Given the description of an element on the screen output the (x, y) to click on. 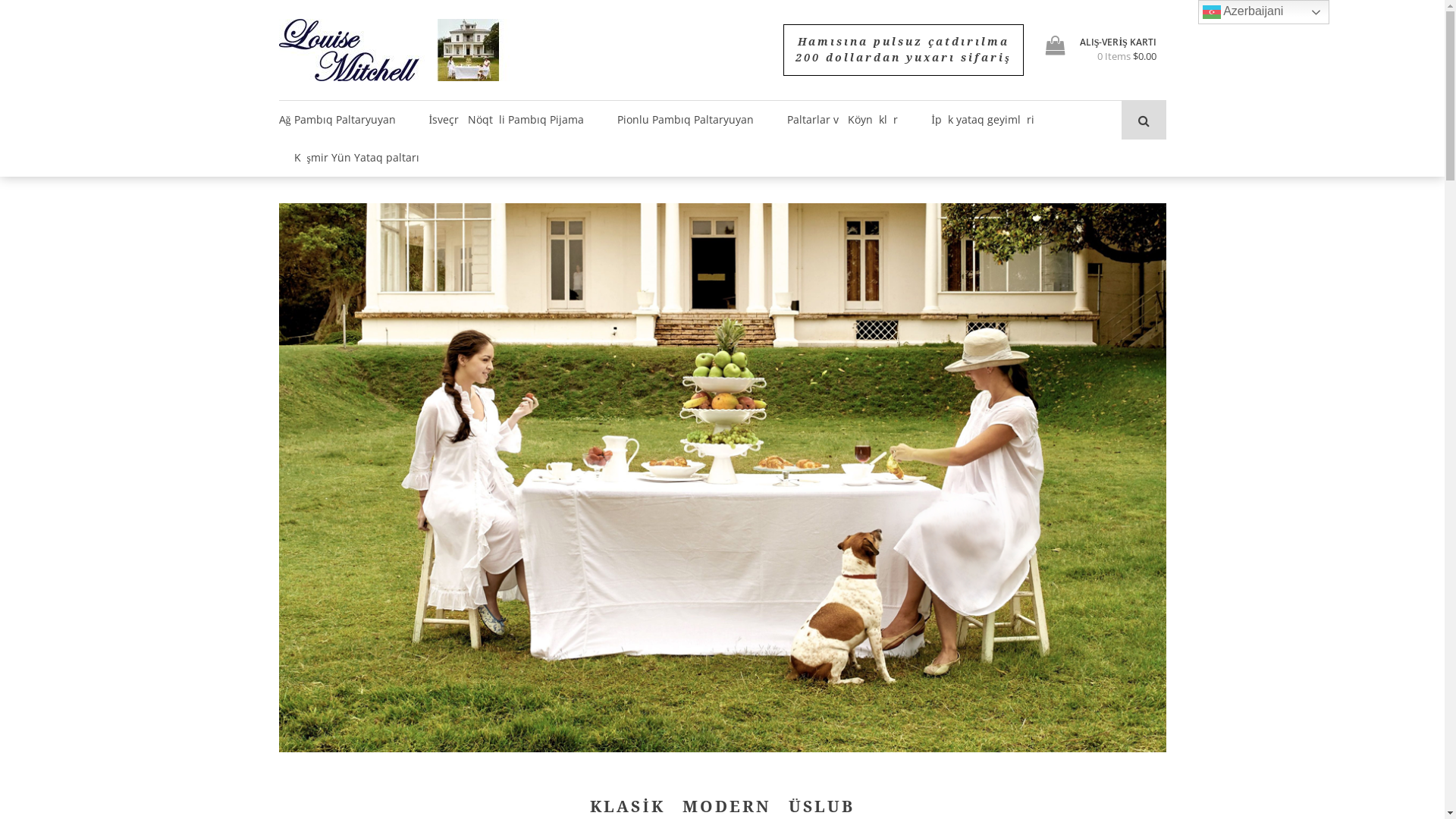
Azerbaijani Element type: text (1263, 12)
